Given the description of an element on the screen output the (x, y) to click on. 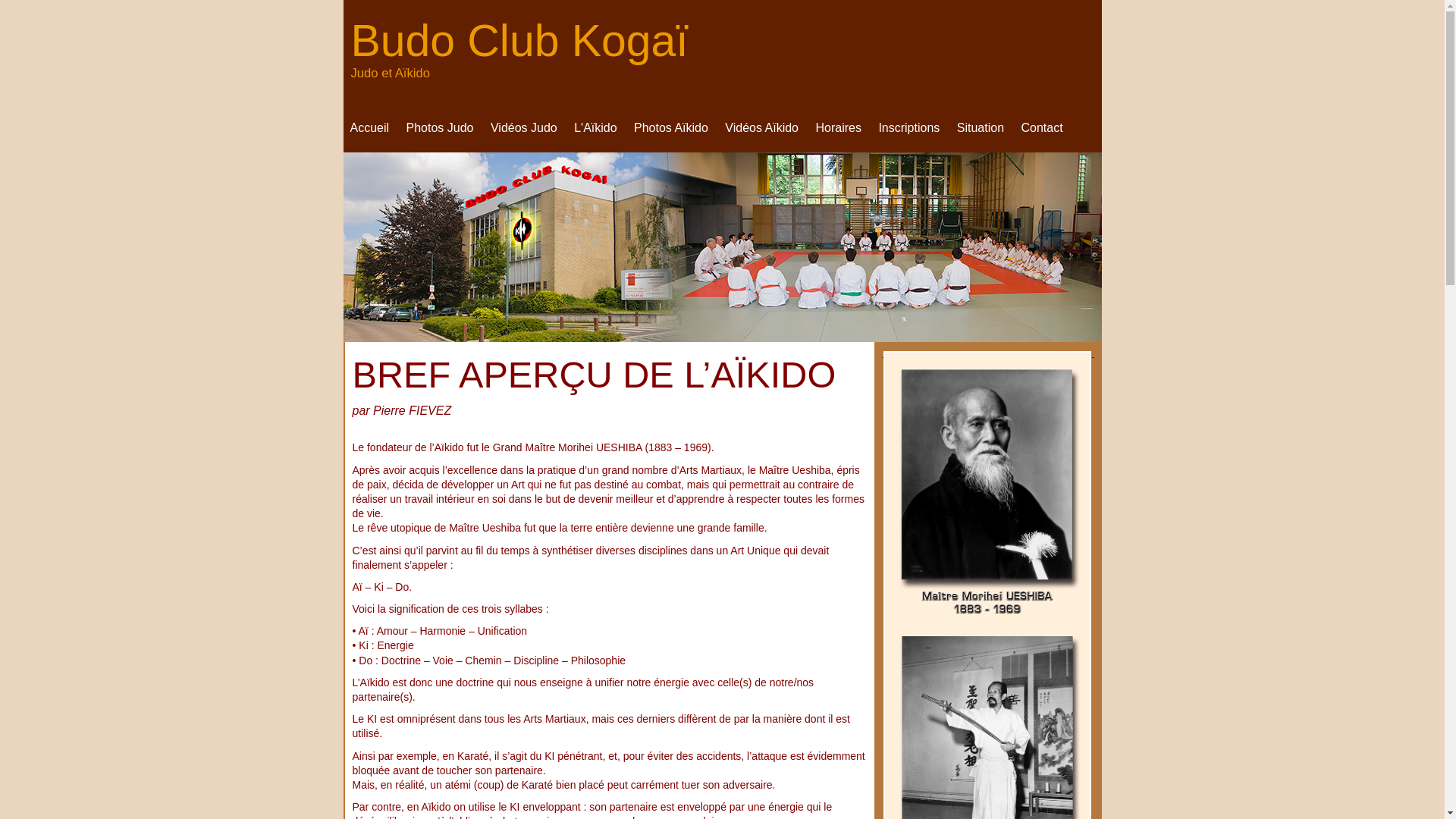
Horaires Element type: text (837, 124)
Inscriptions Element type: text (908, 124)
Accueil Element type: text (368, 124)
Photos Judo Element type: text (439, 124)
Situation Element type: text (980, 124)
Contact Element type: text (1041, 124)
